Given the description of an element on the screen output the (x, y) to click on. 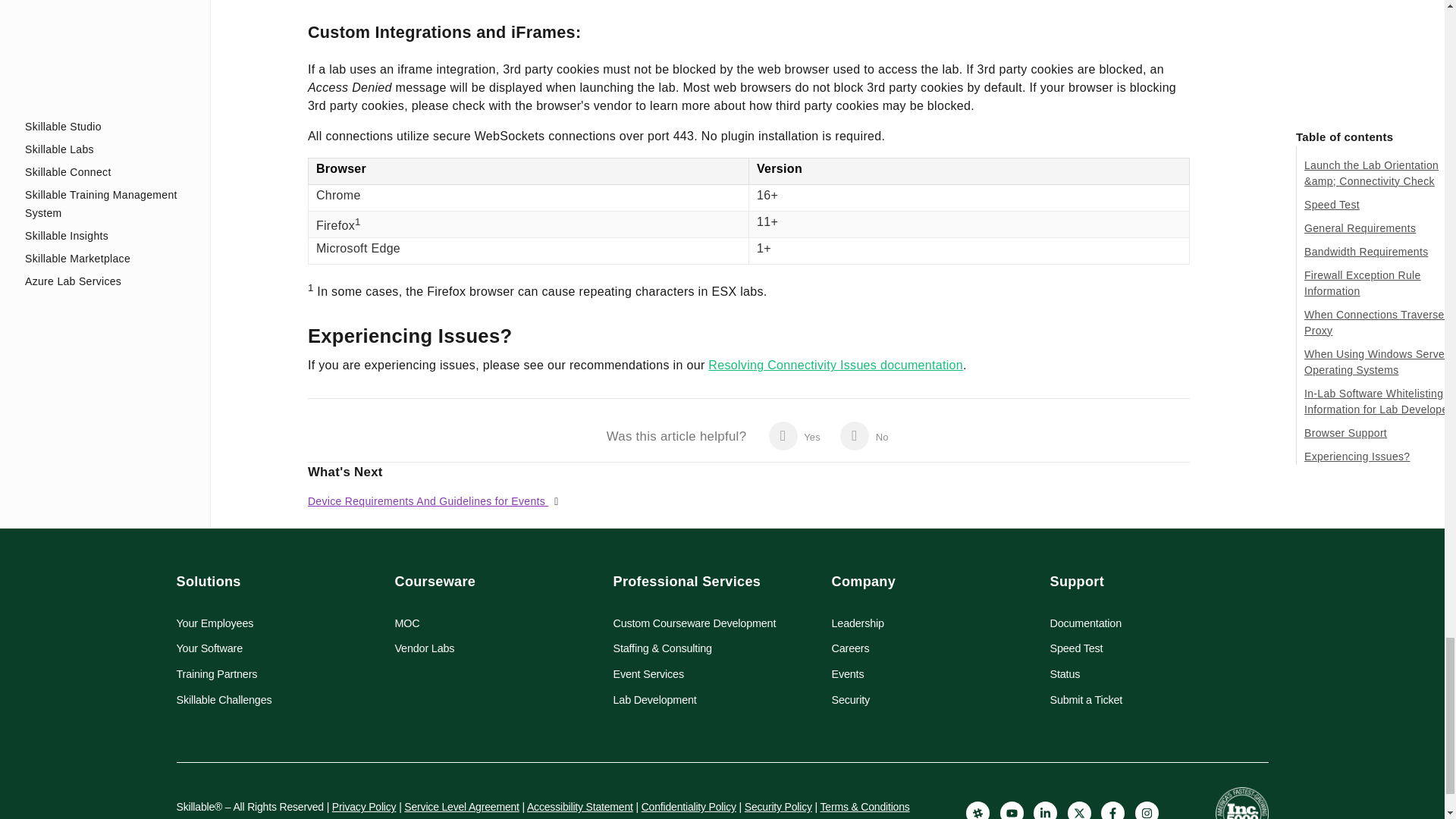
Yes (794, 435)
Device Requirements And Guidelines for Events (427, 500)
Resolving Connectivity Issues documentation (834, 364)
No (863, 435)
